Given the description of an element on the screen output the (x, y) to click on. 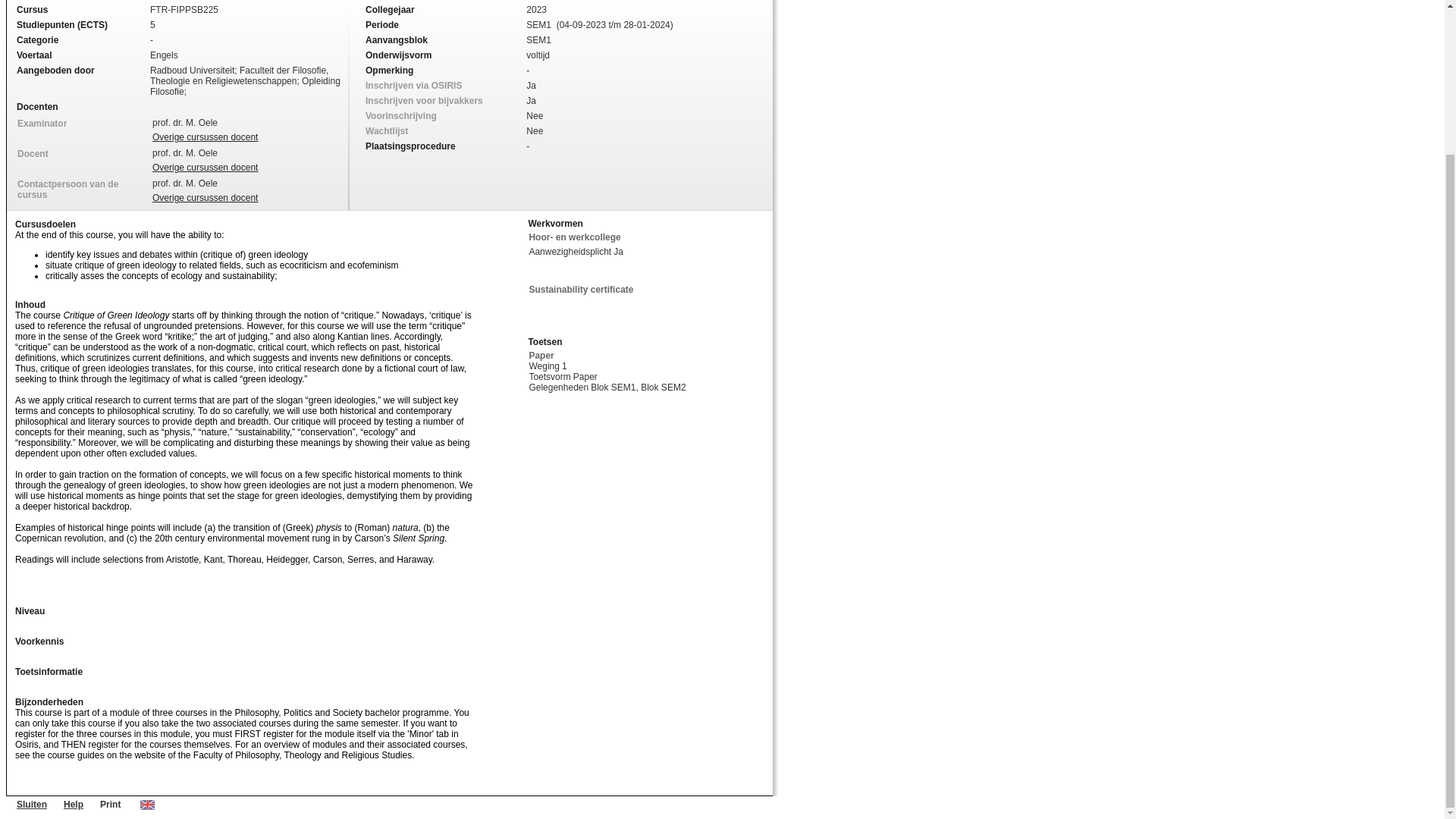
Help (73, 804)
Print (110, 804)
Overige cursussen docent (204, 136)
Overige cursussen docent (204, 197)
Switch to English (146, 804)
Sluiten (31, 804)
Overige cursussen docent (204, 167)
